Given the description of an element on the screen output the (x, y) to click on. 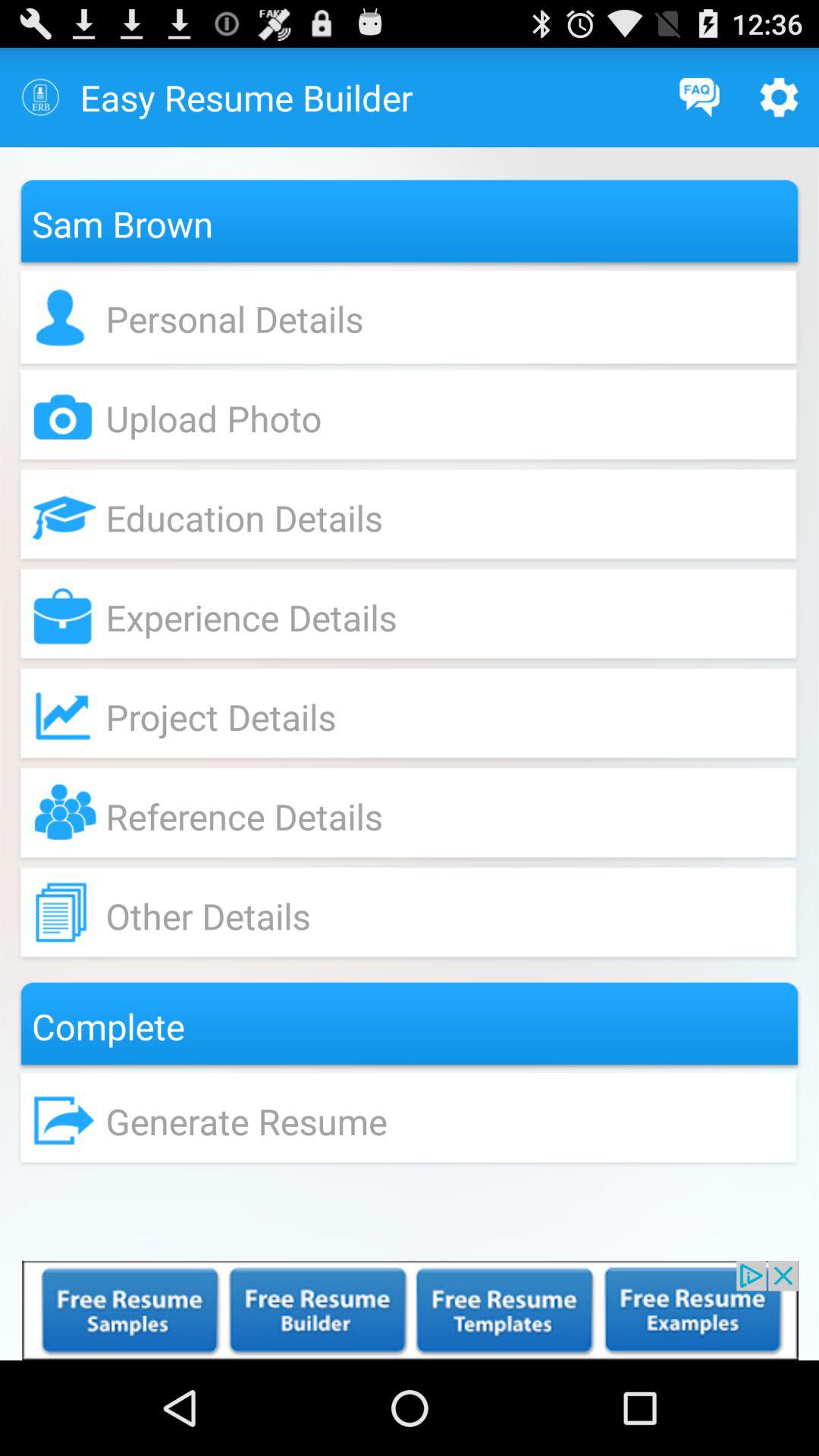
view advertisement (409, 1310)
